Given the description of an element on the screen output the (x, y) to click on. 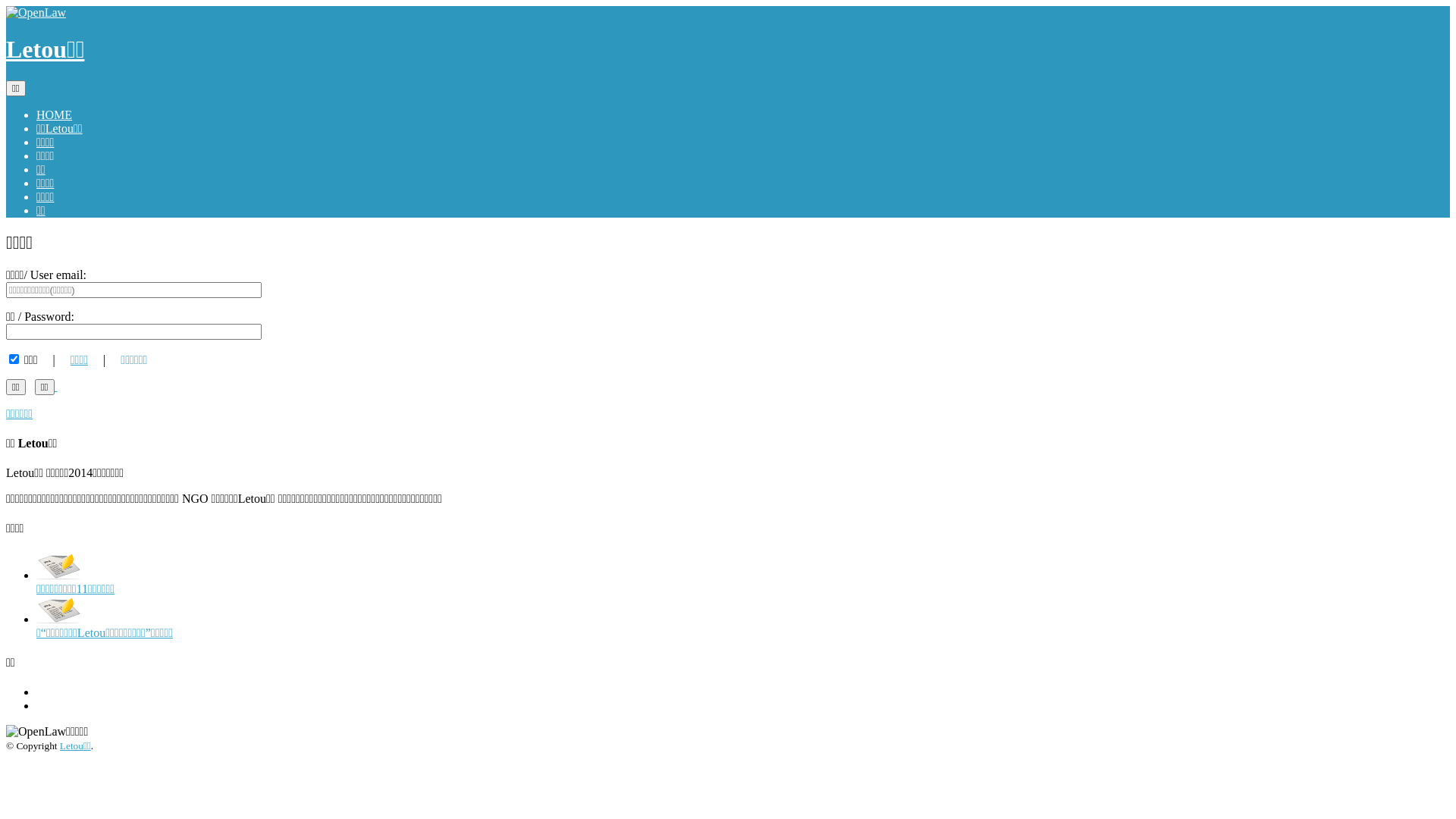
HOME Element type: text (54, 114)
